Given the description of an element on the screen output the (x, y) to click on. 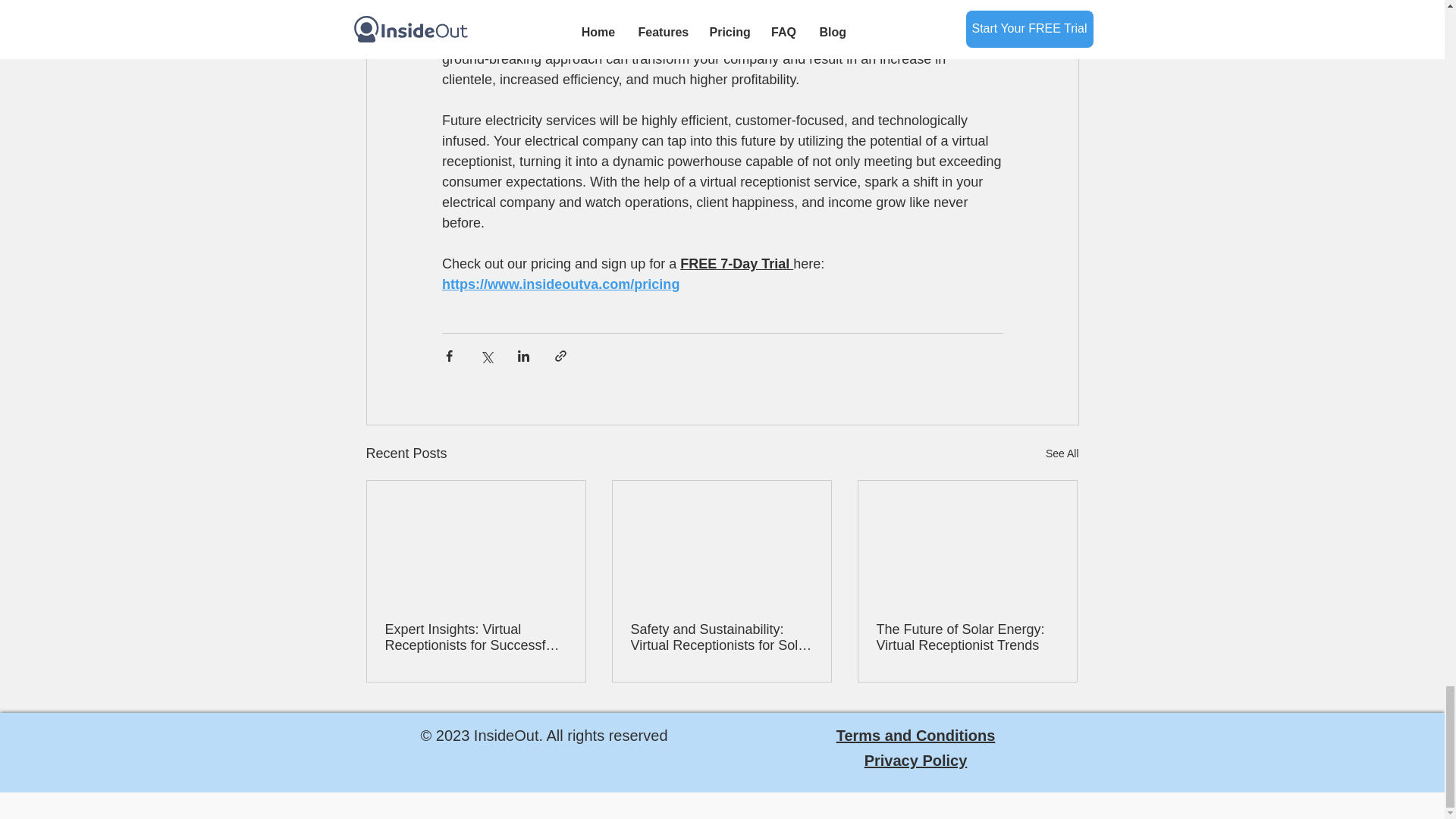
Terms and Conditions (915, 735)
The Future of Solar Energy: Virtual Receptionist Trends (967, 637)
See All (1061, 454)
Privacy Policy (916, 760)
